Given the description of an element on the screen output the (x, y) to click on. 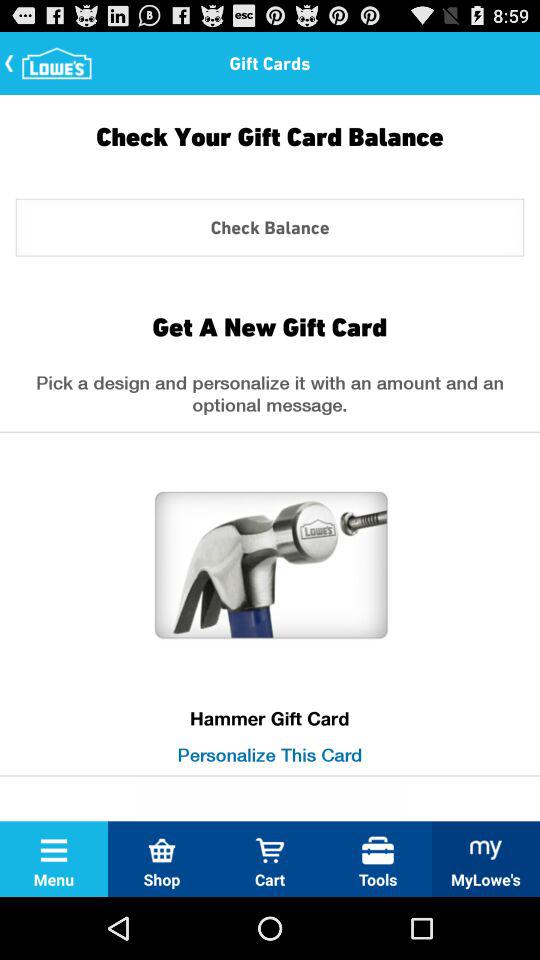
open icon below the hammer gift card icon (269, 754)
